Given the description of an element on the screen output the (x, y) to click on. 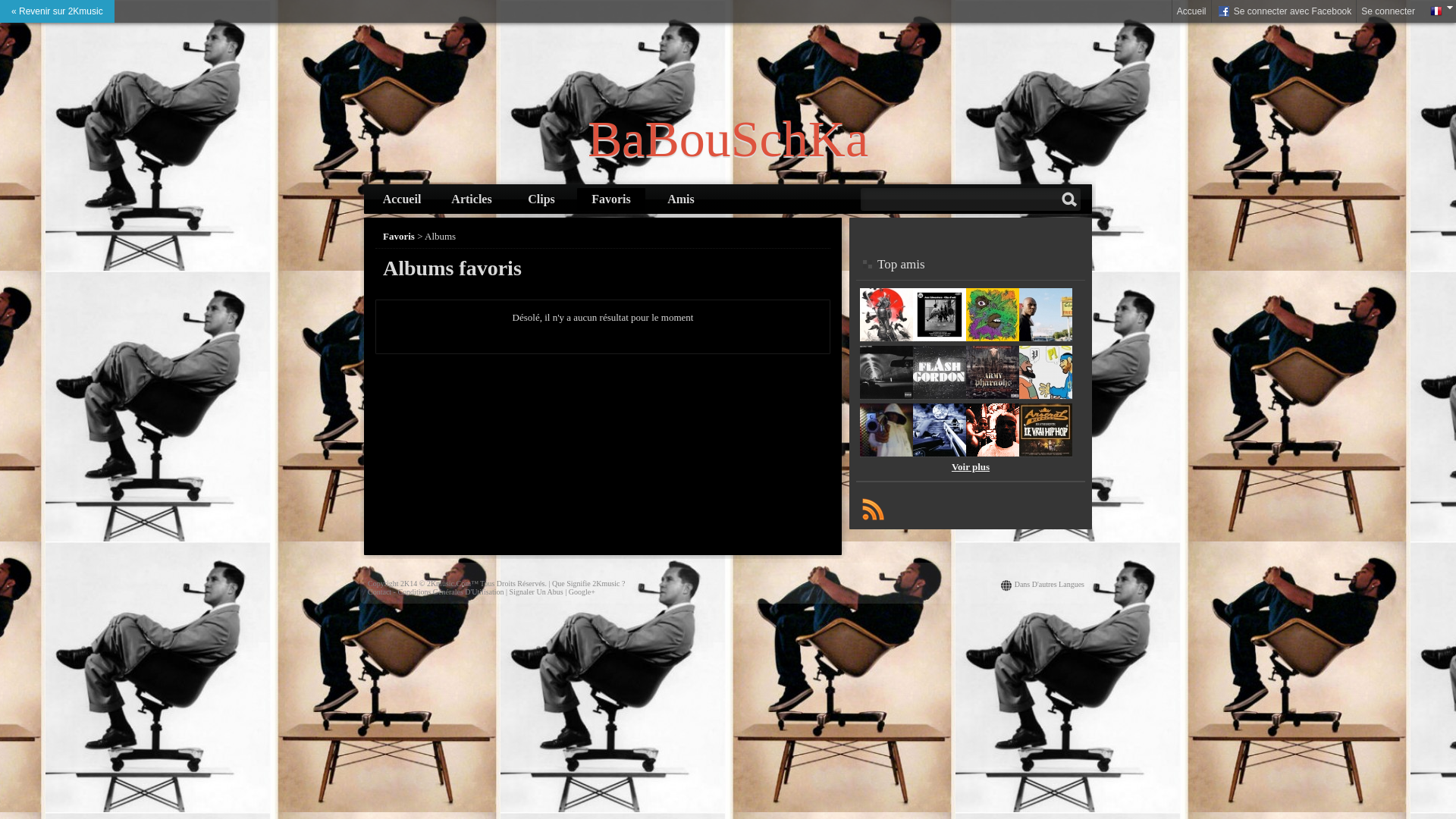
shoottokilll Element type: hover (992, 396)
CJ33fr Element type: hover (939, 338)
Articles Element type: text (471, 199)
Baliblaze Element type: hover (992, 338)
  Element type: text (872, 508)
Favoris Element type: text (398, 235)
Dans D'Autres Langues Element type: text (1049, 584)
Accueil Element type: text (1191, 11)
Here we talk real hip-hop Element type: hover (939, 453)
The Crates Element type: hover (886, 453)
Se connecter Element type: text (1387, 11)
Amis Element type: text (680, 199)
 Se connecter avec Facebook Element type: text (1283, 11)
Clips Element type: text (541, 199)
Flash1988 Element type: hover (939, 396)
Google+ Element type: text (581, 591)
Accueil Element type: text (401, 199)
Procus' Element type: hover (1045, 396)
Voir plus Element type: text (970, 466)
Signaler Un Abus Element type: text (536, 591)
BaBouSchKa Element type: text (727, 139)
Favoris Element type: text (611, 199)
Nasir78'World Element type: hover (1045, 338)
Que Signifie 2Kmusic ? Element type: text (588, 583)
Taste Element type: hover (992, 453)
Rap FR : News et Chroniques Element type: hover (1045, 453)
